Given the description of an element on the screen output the (x, y) to click on. 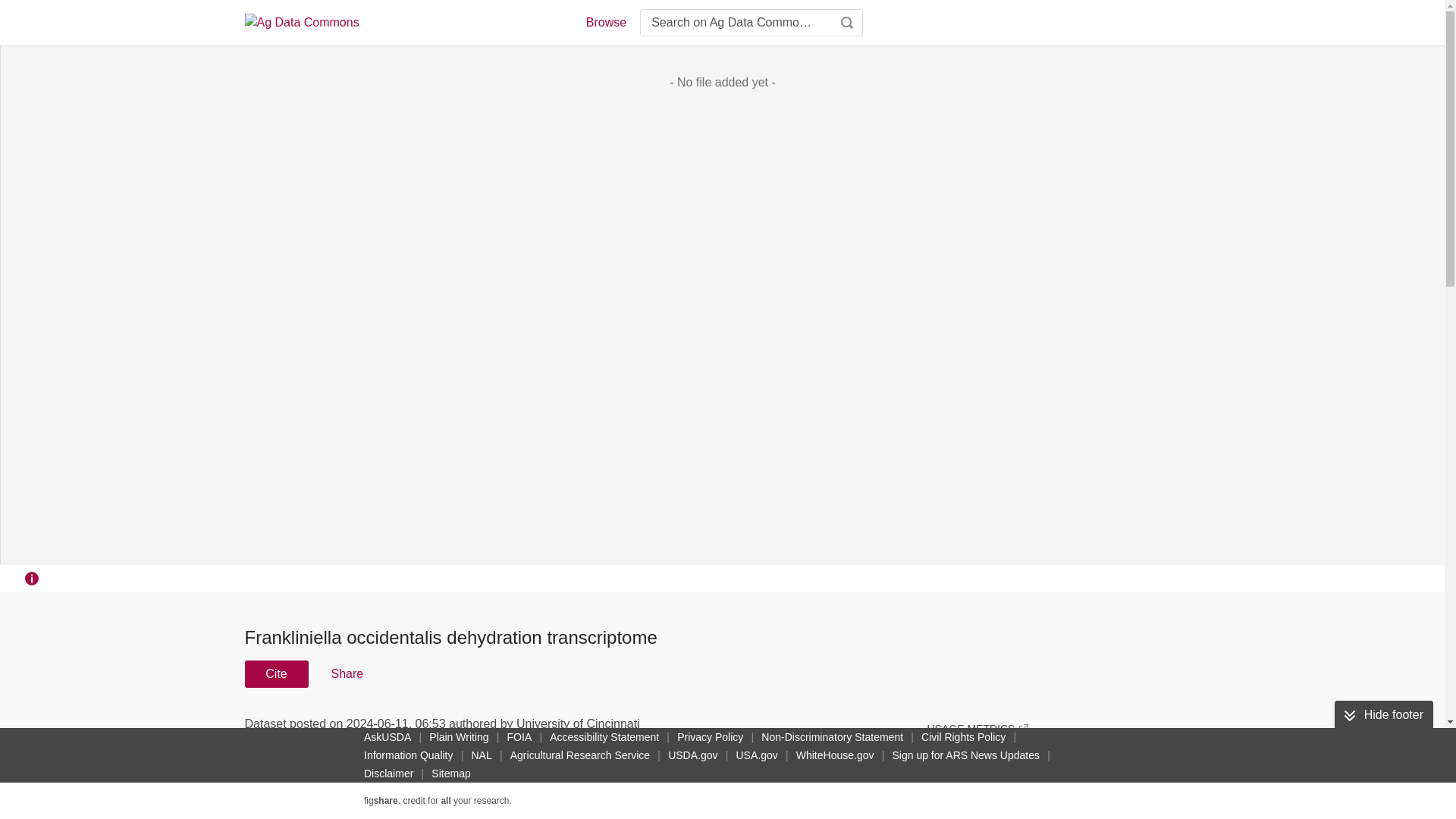
Share (346, 673)
Privacy Policy (710, 737)
Accessibility Statement (603, 737)
WhiteHouse.gov (835, 755)
Information Quality (408, 755)
Sitemap (450, 773)
Hide footer (1383, 715)
Civil Rights Policy (963, 737)
AskUSDA (386, 737)
Cite (275, 673)
